Given the description of an element on the screen output the (x, y) to click on. 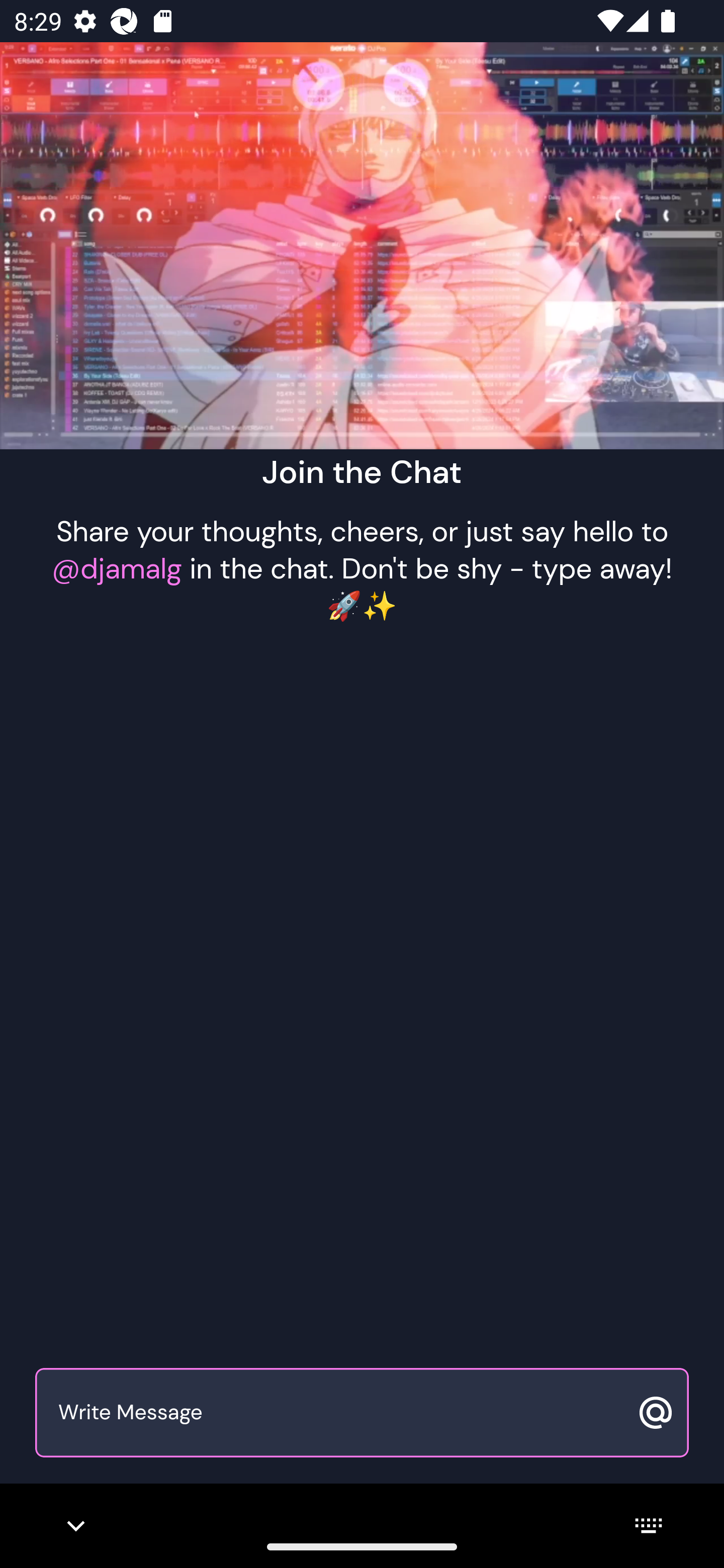
Write Message (340, 1413)
